Given the description of an element on the screen output the (x, y) to click on. 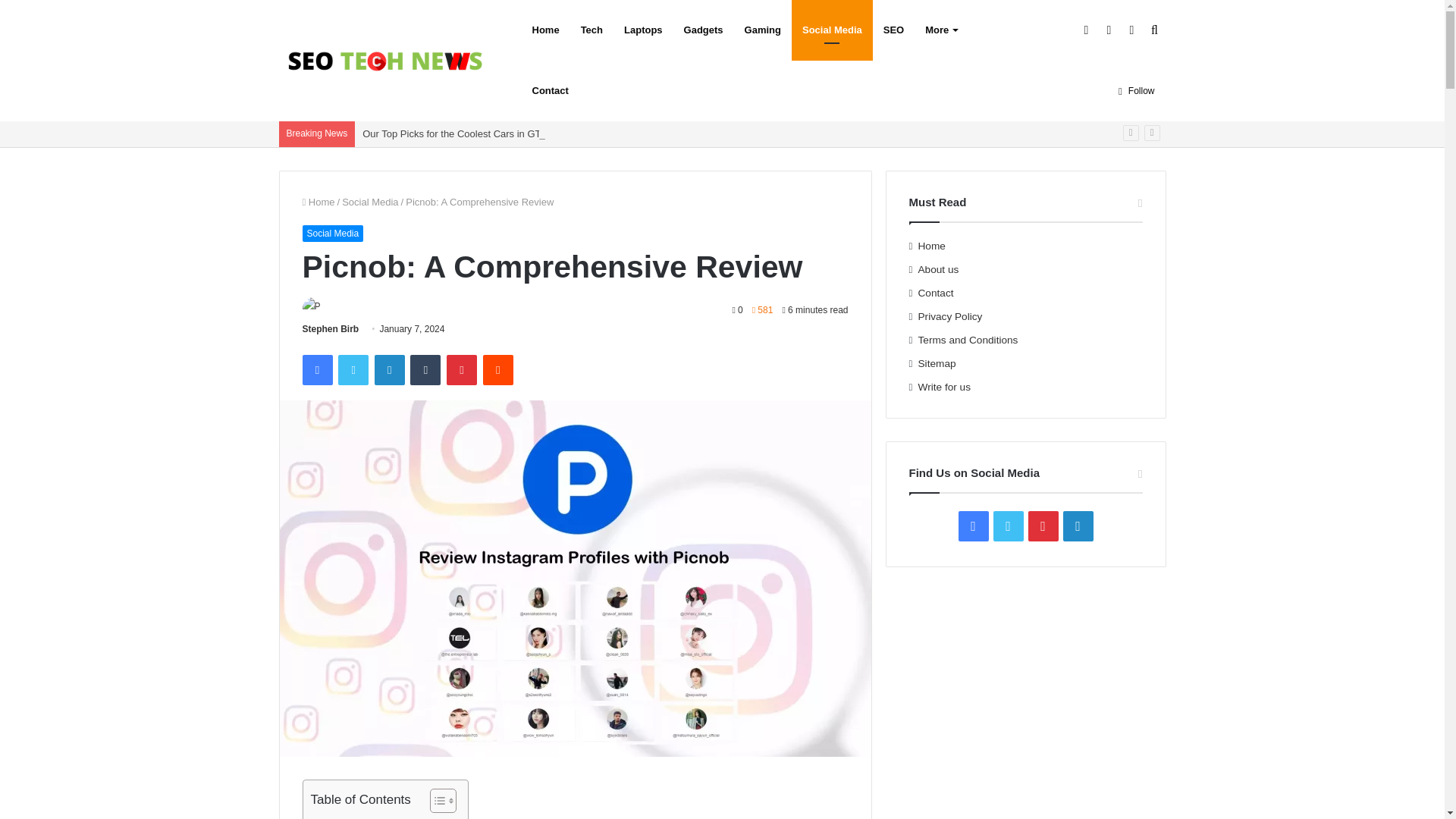
More (941, 30)
Home (545, 30)
Tumblr (425, 369)
Twitter (352, 369)
Search for (1154, 30)
Facebook (316, 369)
Log In (1086, 30)
Contact (550, 90)
Switch skin (1131, 30)
Sidebar (1109, 30)
Stephen Birb (329, 328)
Social Media (369, 202)
Gadgets (702, 30)
Twitter (352, 369)
Gaming (762, 30)
